Given the description of an element on the screen output the (x, y) to click on. 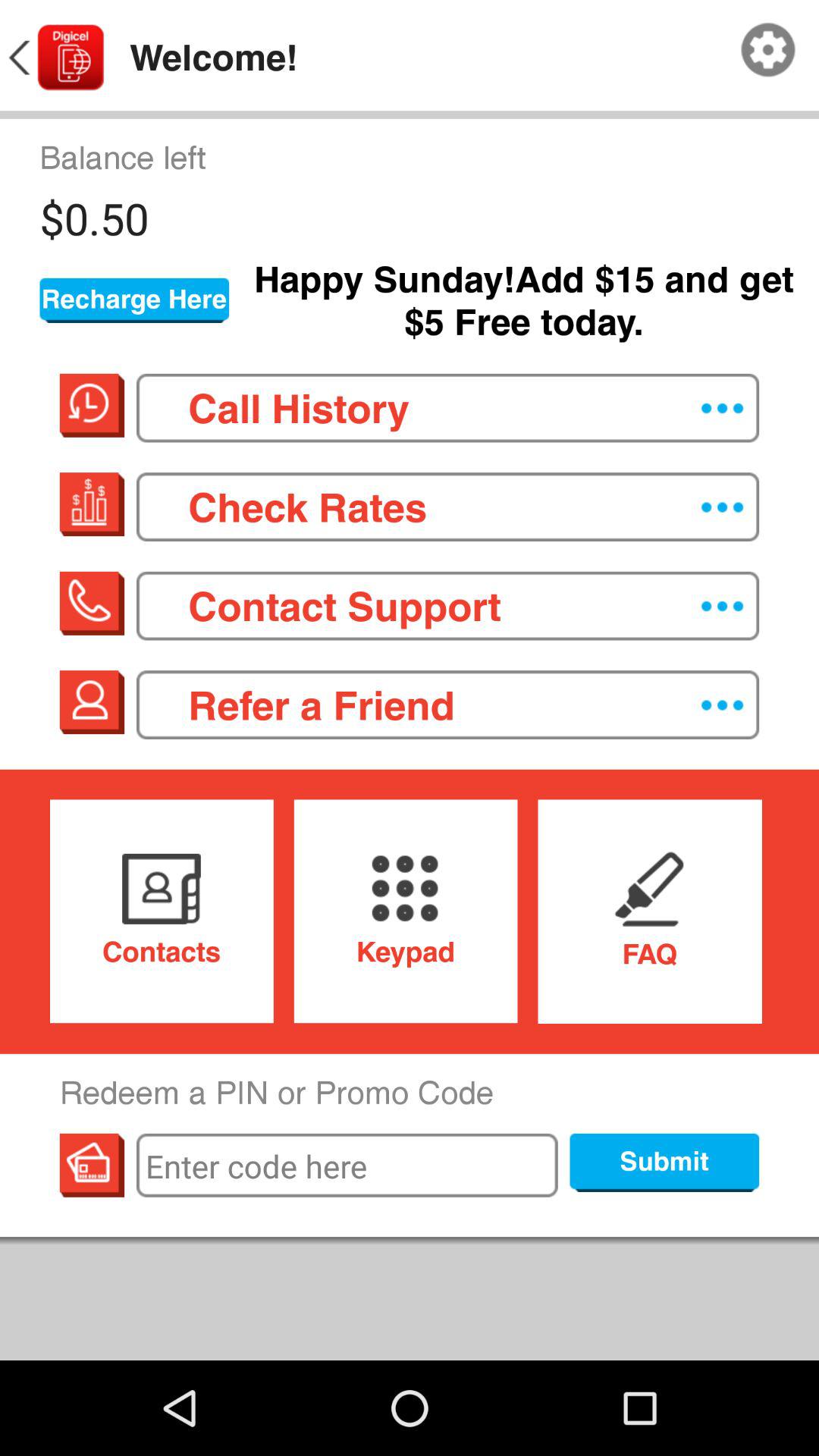
open the check rates (447, 506)
